Given the description of an element on the screen output the (x, y) to click on. 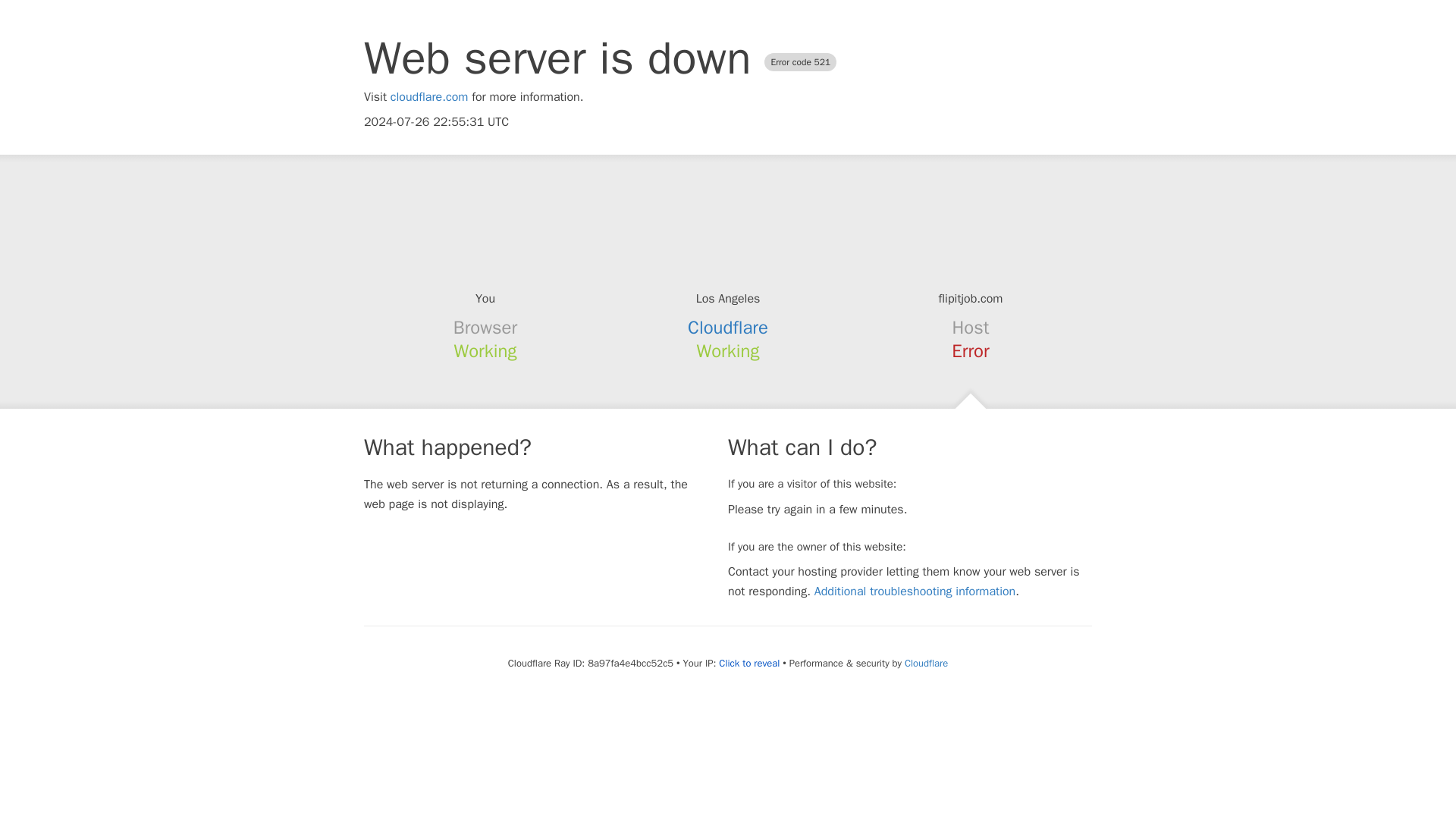
Click to reveal (748, 663)
cloudflare.com (429, 96)
Cloudflare (925, 662)
Cloudflare (727, 327)
Additional troubleshooting information (913, 590)
